Given the description of an element on the screen output the (x, y) to click on. 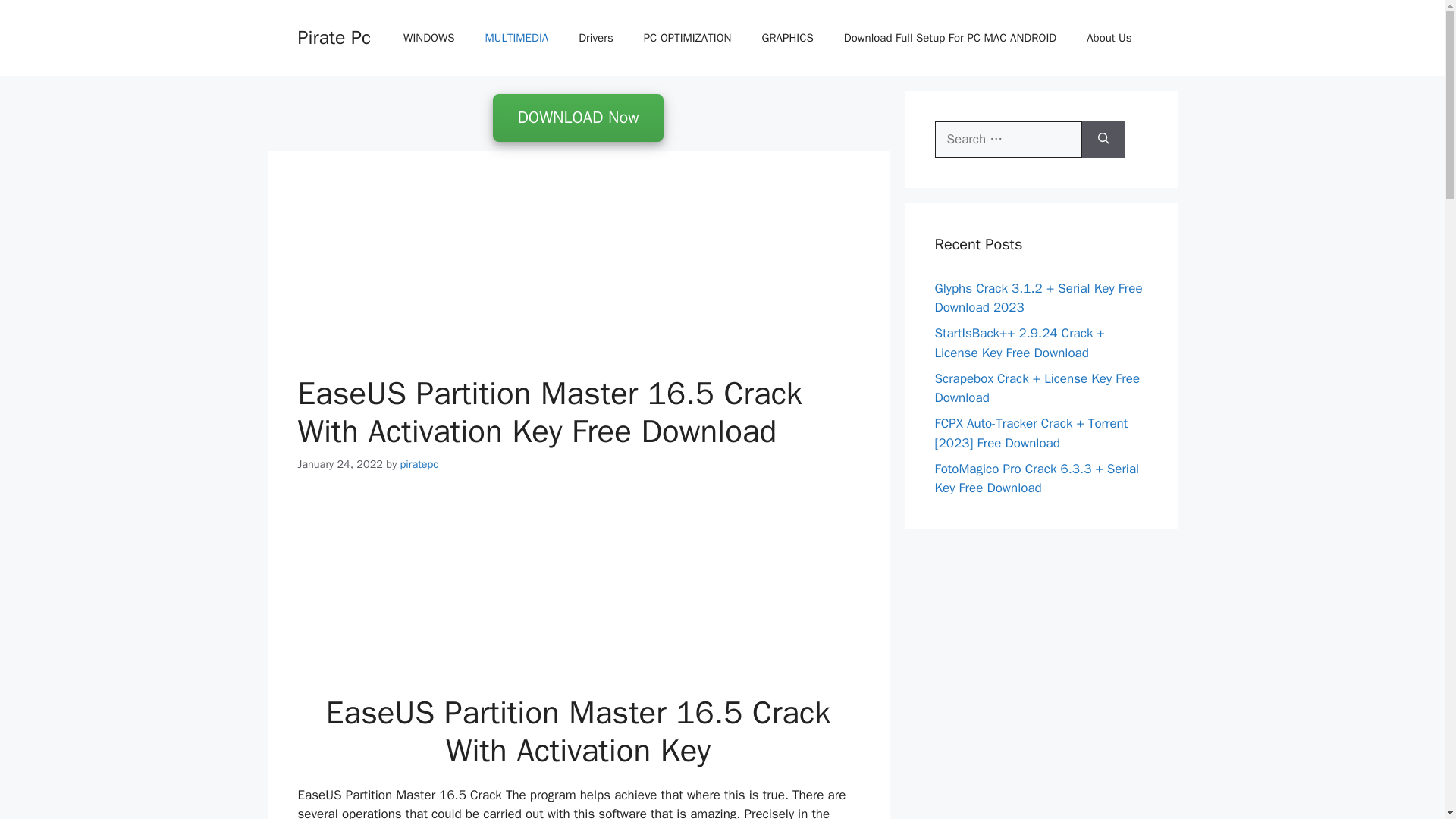
Download Full Setup For PC MAC ANDROID (949, 37)
Search for: (1007, 139)
Pirate Pc (333, 37)
Drivers (595, 37)
PC OPTIMIZATION (687, 37)
DOWNLOAD Now (577, 118)
MULTIMEDIA (517, 37)
DOWNLOAD Now (577, 117)
About Us (1109, 37)
View all posts by piratepc (419, 463)
WINDOWS (428, 37)
GRAPHICS (786, 37)
piratepc (419, 463)
